Given the description of an element on the screen output the (x, y) to click on. 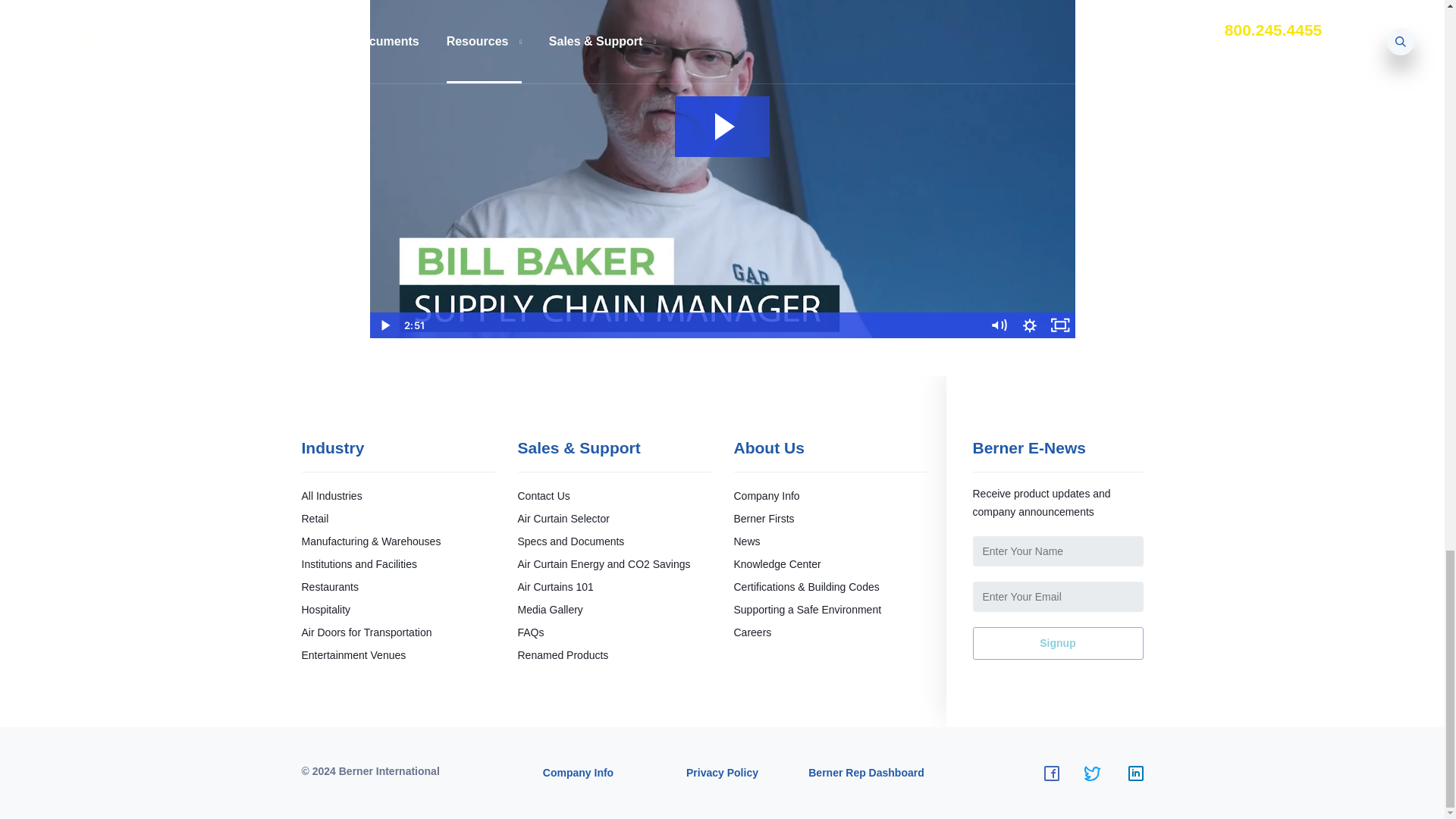
Show settings menu (1029, 325)
Signup (1057, 643)
